Given the description of an element on the screen output the (x, y) to click on. 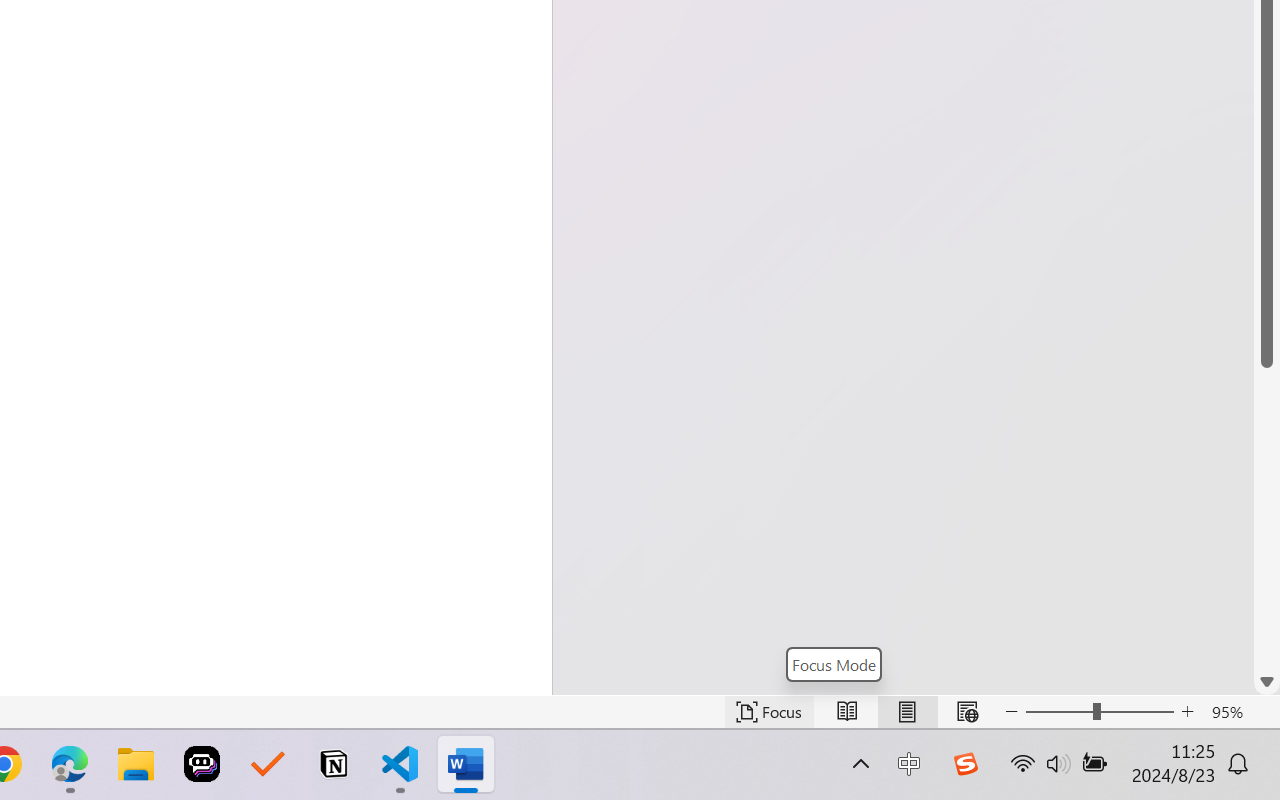
Page down (1267, 518)
Focus Mode (833, 664)
Line down (1267, 681)
